Given the description of an element on the screen output the (x, y) to click on. 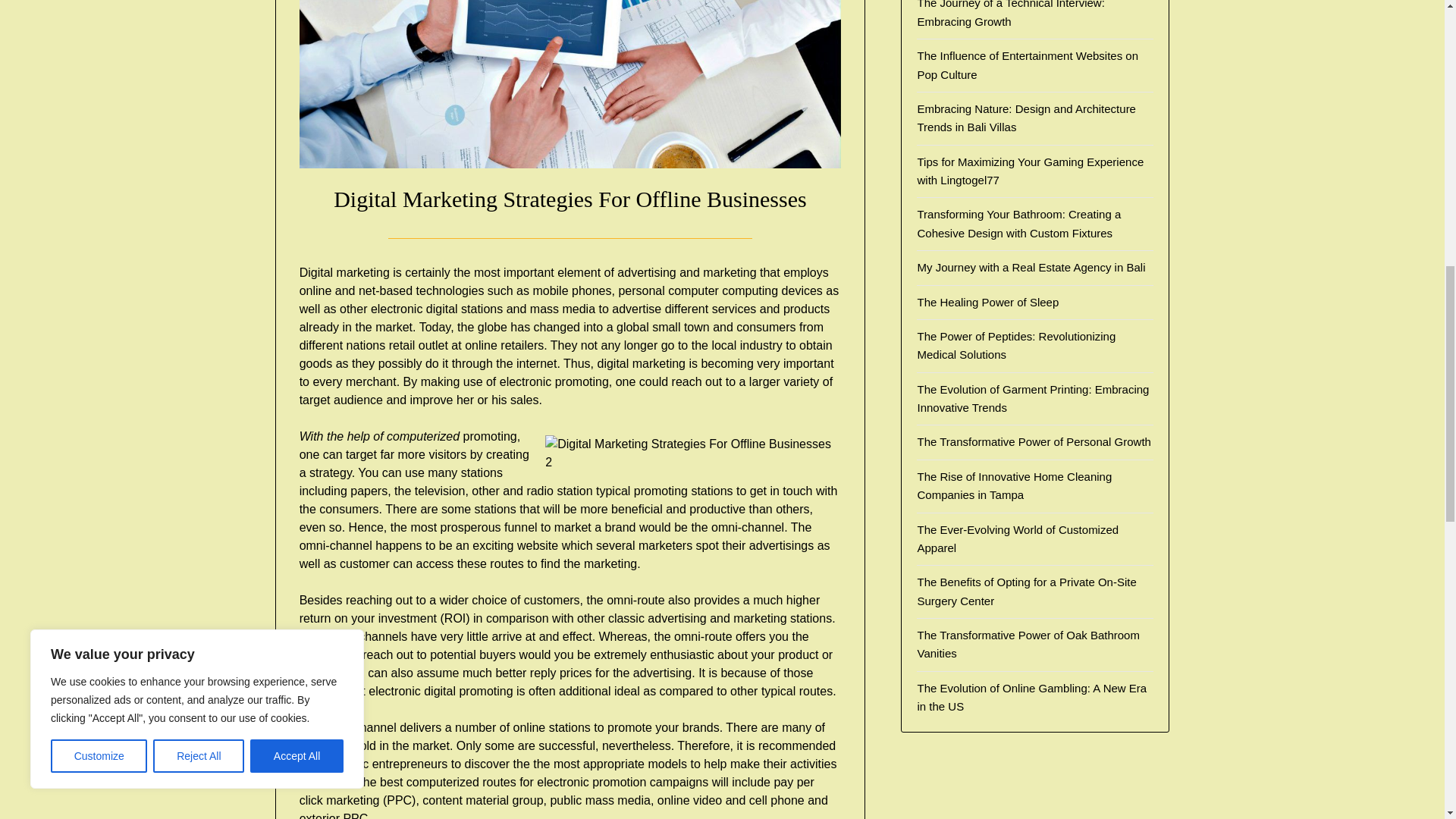
My Journey with a Real Estate Agency in Bali (1030, 267)
The Power of Peptides: Revolutionizing Medical Solutions (1016, 345)
The Healing Power of Sleep (987, 301)
Tips for Maximizing Your Gaming Experience with Lingtogel77 (1029, 170)
The Influence of Entertainment Websites on Pop Culture (1027, 64)
The Journey of a Technical Interview: Embracing Growth (1010, 13)
